Given the description of an element on the screen output the (x, y) to click on. 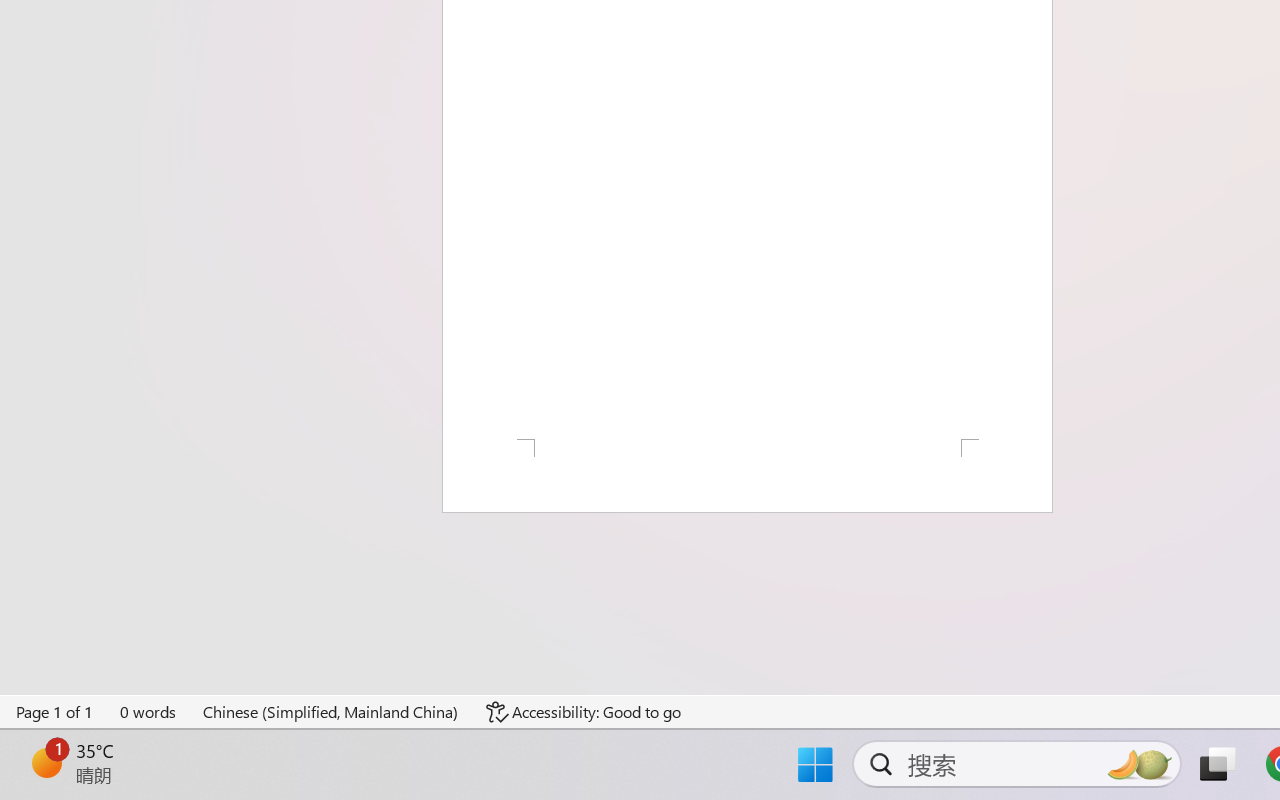
Language Chinese (Simplified, Mainland China) (331, 712)
